Given the description of an element on the screen output the (x, y) to click on. 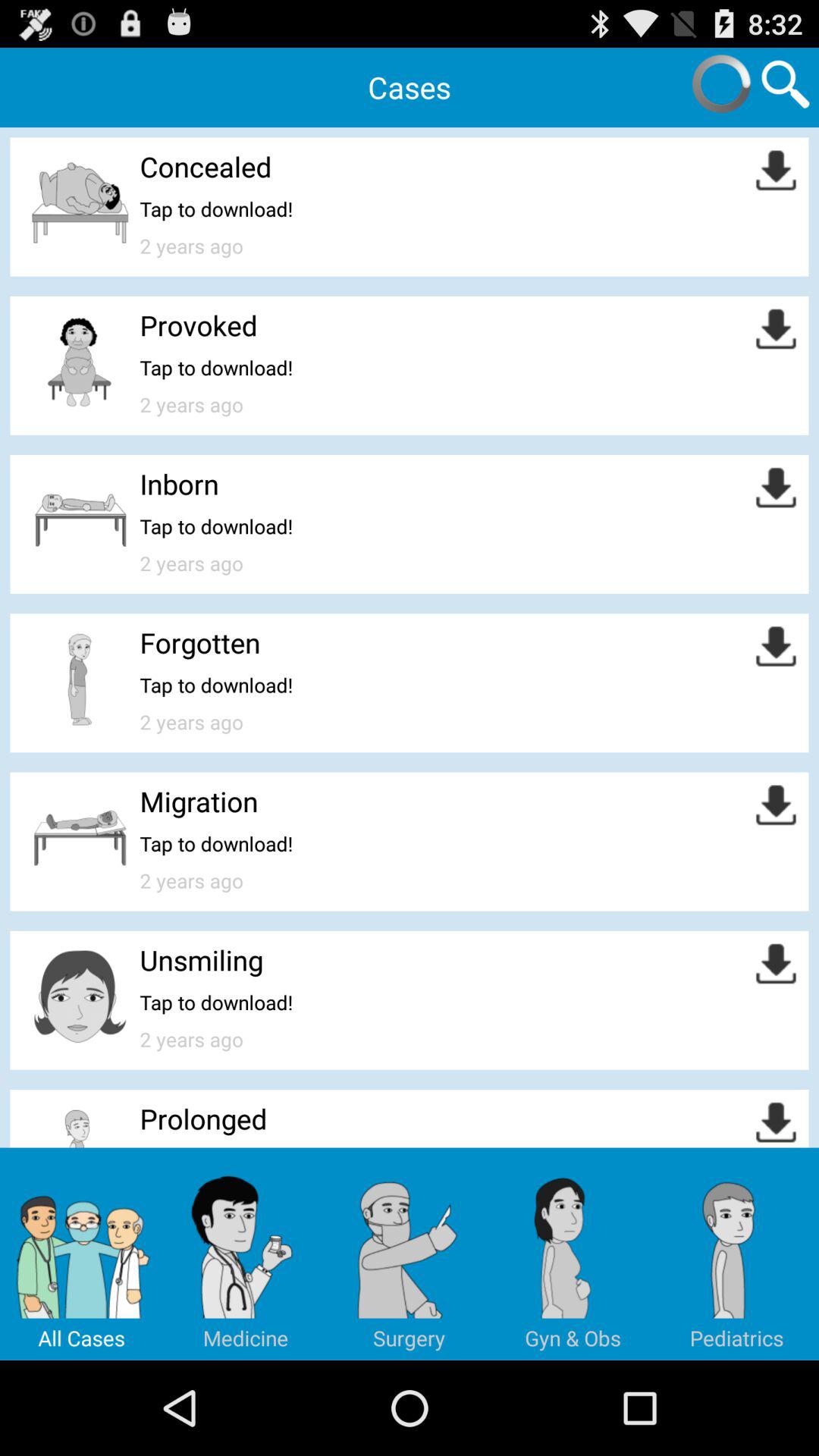
select the inborn app (178, 483)
